Given the description of an element on the screen output the (x, y) to click on. 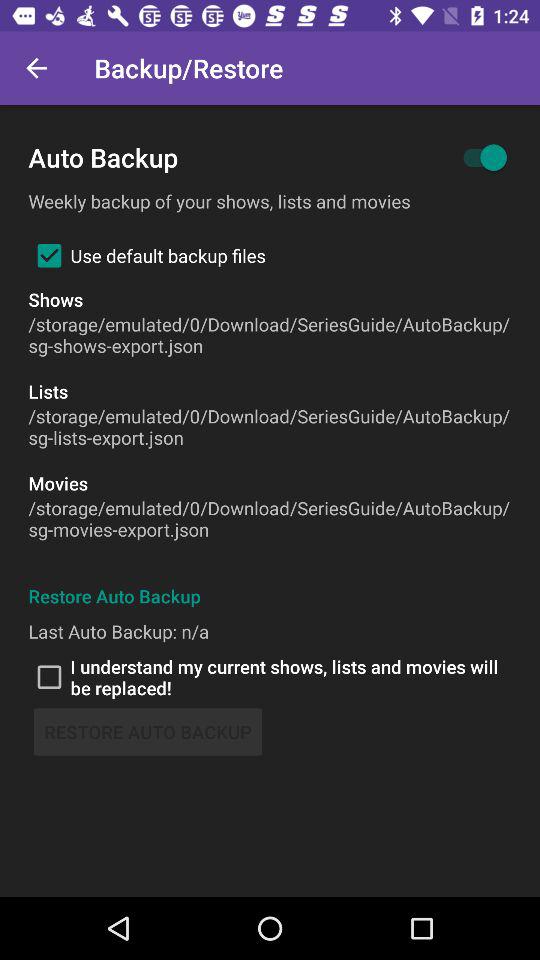
select the item to the left of backup/restore item (36, 68)
